Given the description of an element on the screen output the (x, y) to click on. 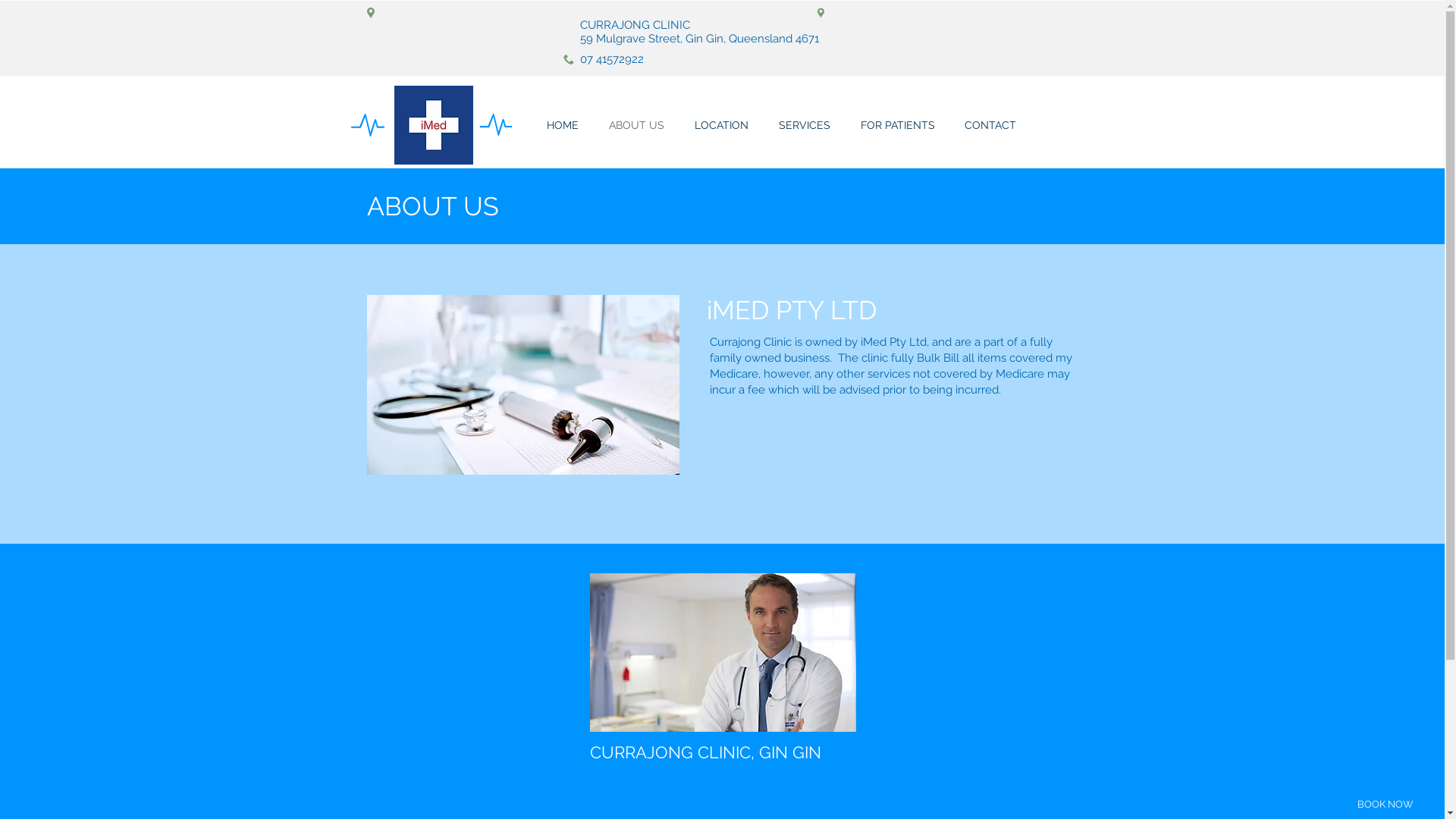
LOCATION Element type: text (721, 125)
HOME Element type: text (561, 125)
CONTACT Element type: text (989, 125)
CURRAJONG CLINIC, GIN GIN Element type: text (705, 752)
SERVICES Element type: text (803, 125)
FOR PATIENTS Element type: text (896, 125)
ABOUT US Element type: text (635, 125)
